Given the description of an element on the screen output the (x, y) to click on. 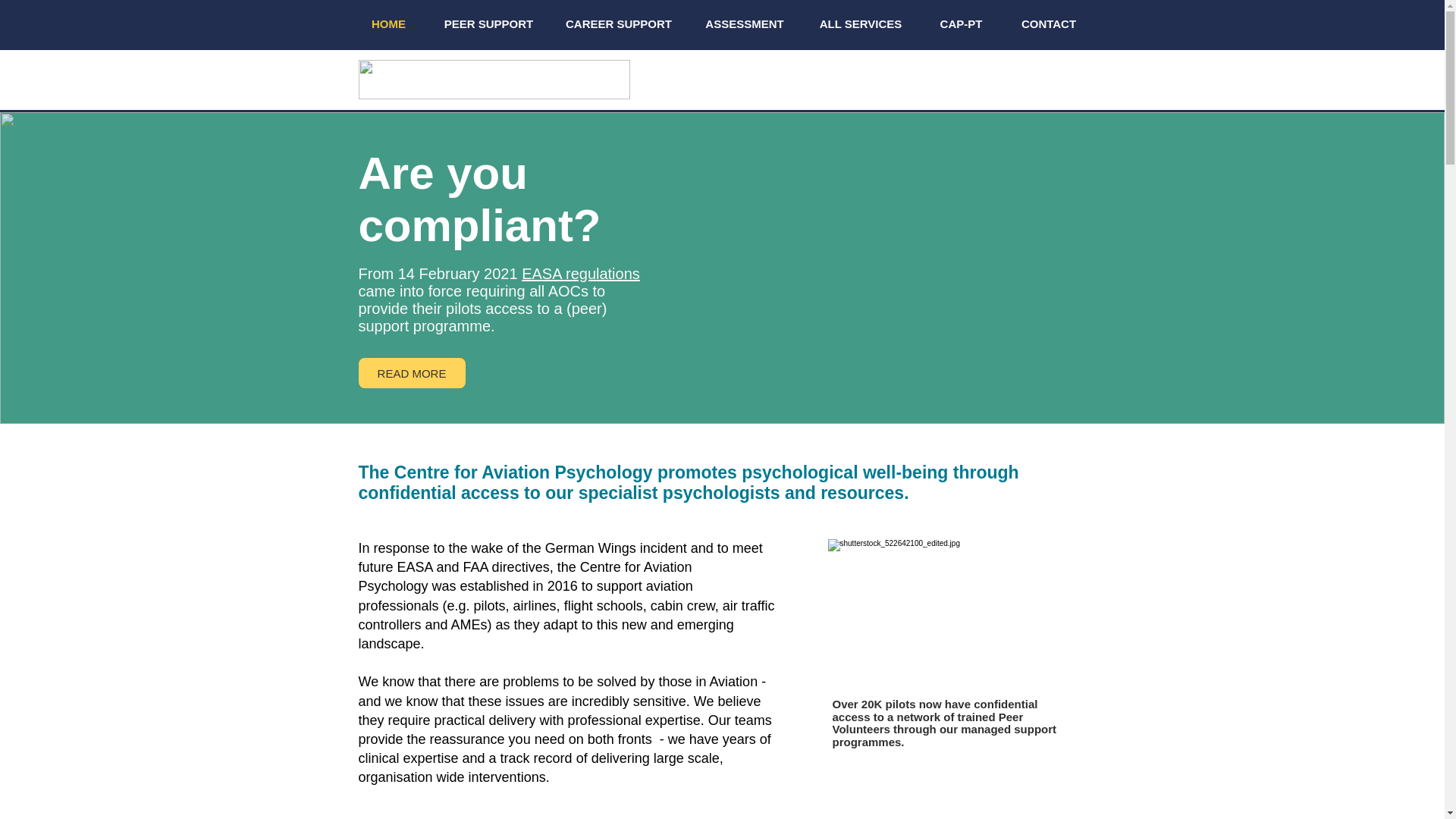
PEER SUPPORT (489, 24)
READ MORE (411, 372)
ASSESSMENT (744, 24)
ALL SERVICES (860, 24)
EASA regulations (580, 273)
CAP-PT (960, 24)
HOME (388, 24)
CONTACT (1049, 24)
CAREER SUPPORT (617, 24)
